Given the description of an element on the screen output the (x, y) to click on. 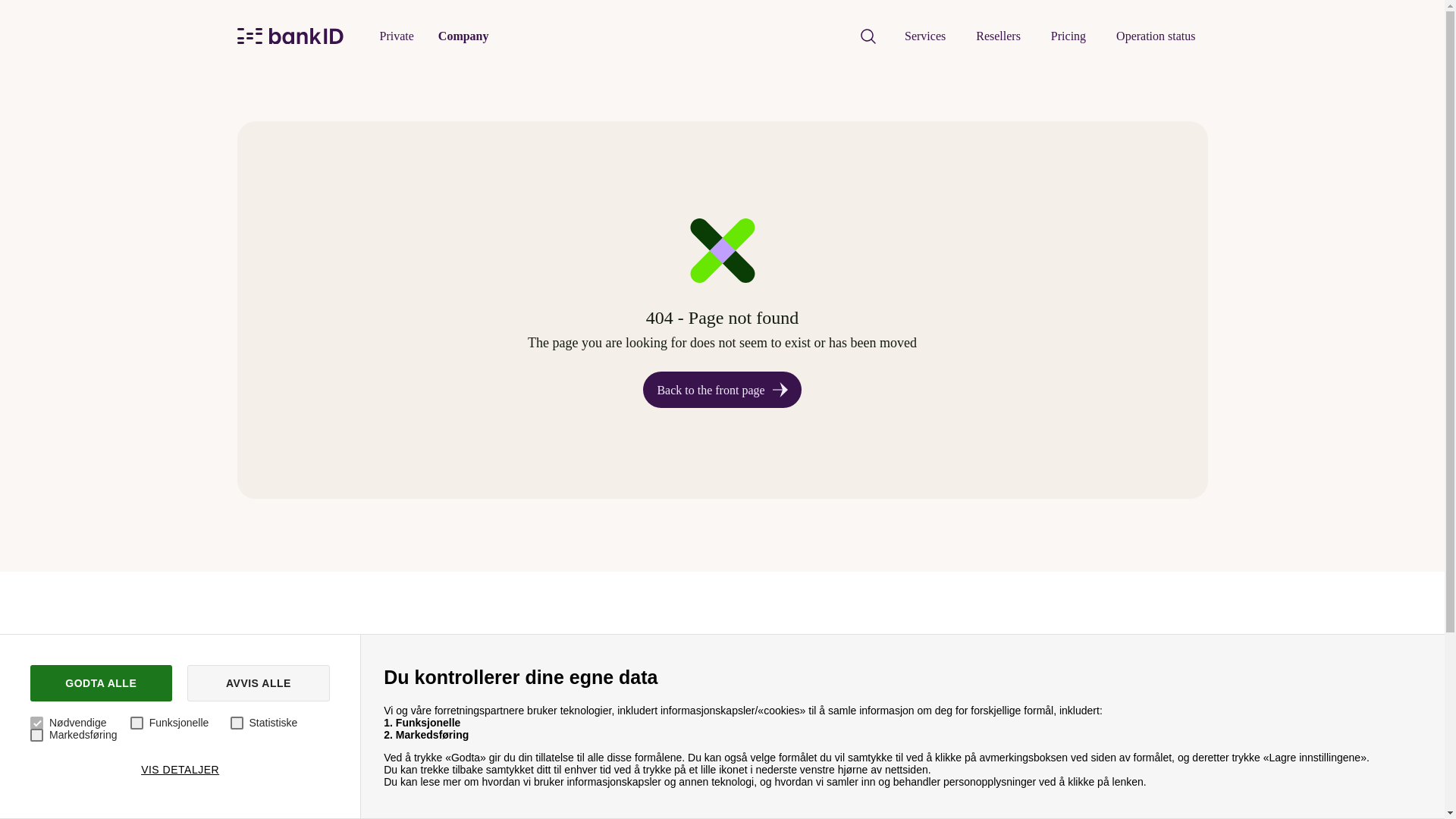
AVVIS ALLE (258, 683)
VIS DETALJER (179, 768)
GODTA ALLE (100, 683)
